Given the description of an element on the screen output the (x, y) to click on. 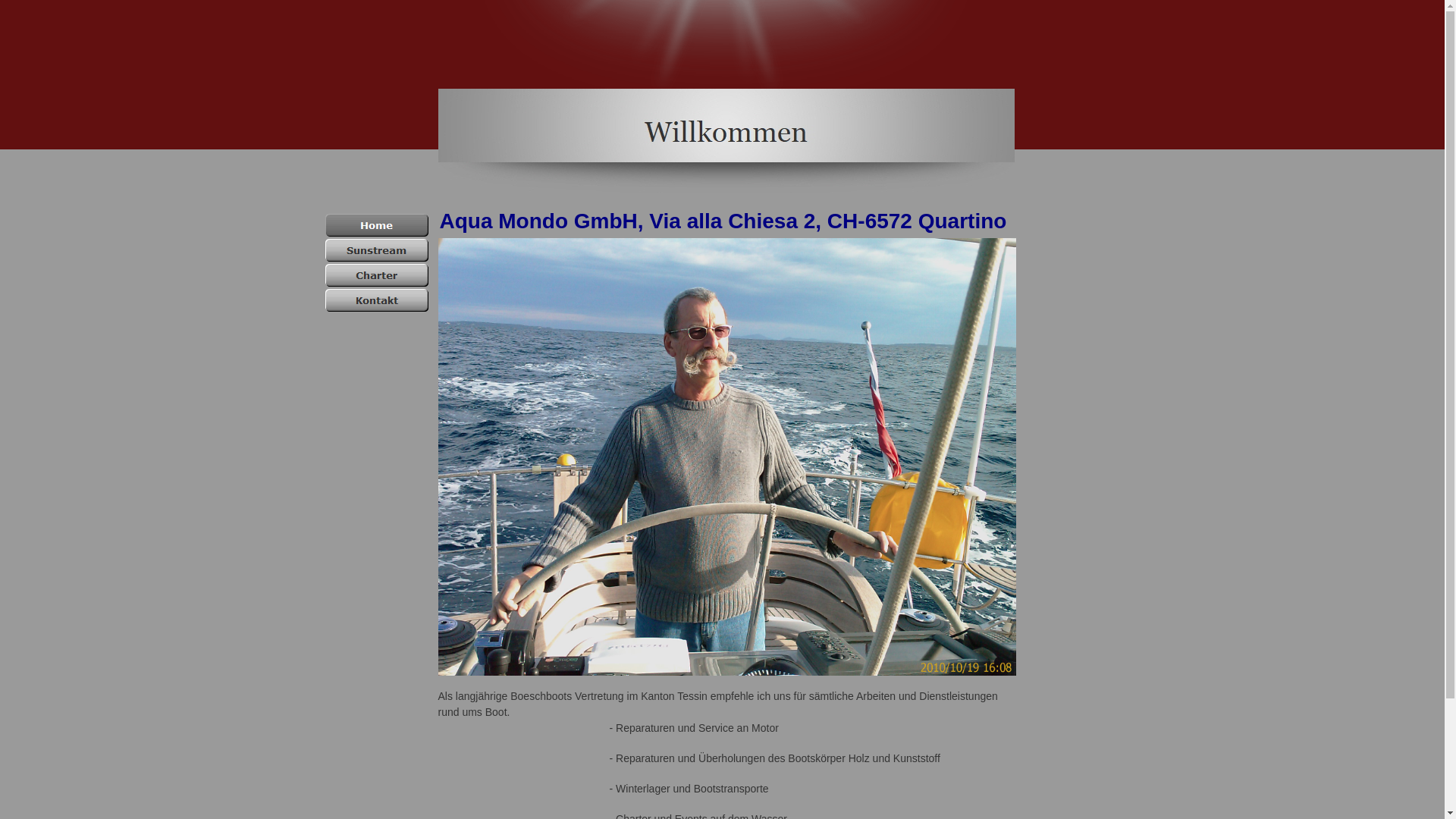
Willkommen Element type: hover (726, 140)
Charter Element type: hover (375, 274)
Sunstream Element type: hover (375, 249)
Hanspi 1 Element type: hover (727, 456)
Home Element type: hover (375, 224)
Kontakt Element type: hover (375, 299)
